Given the description of an element on the screen output the (x, y) to click on. 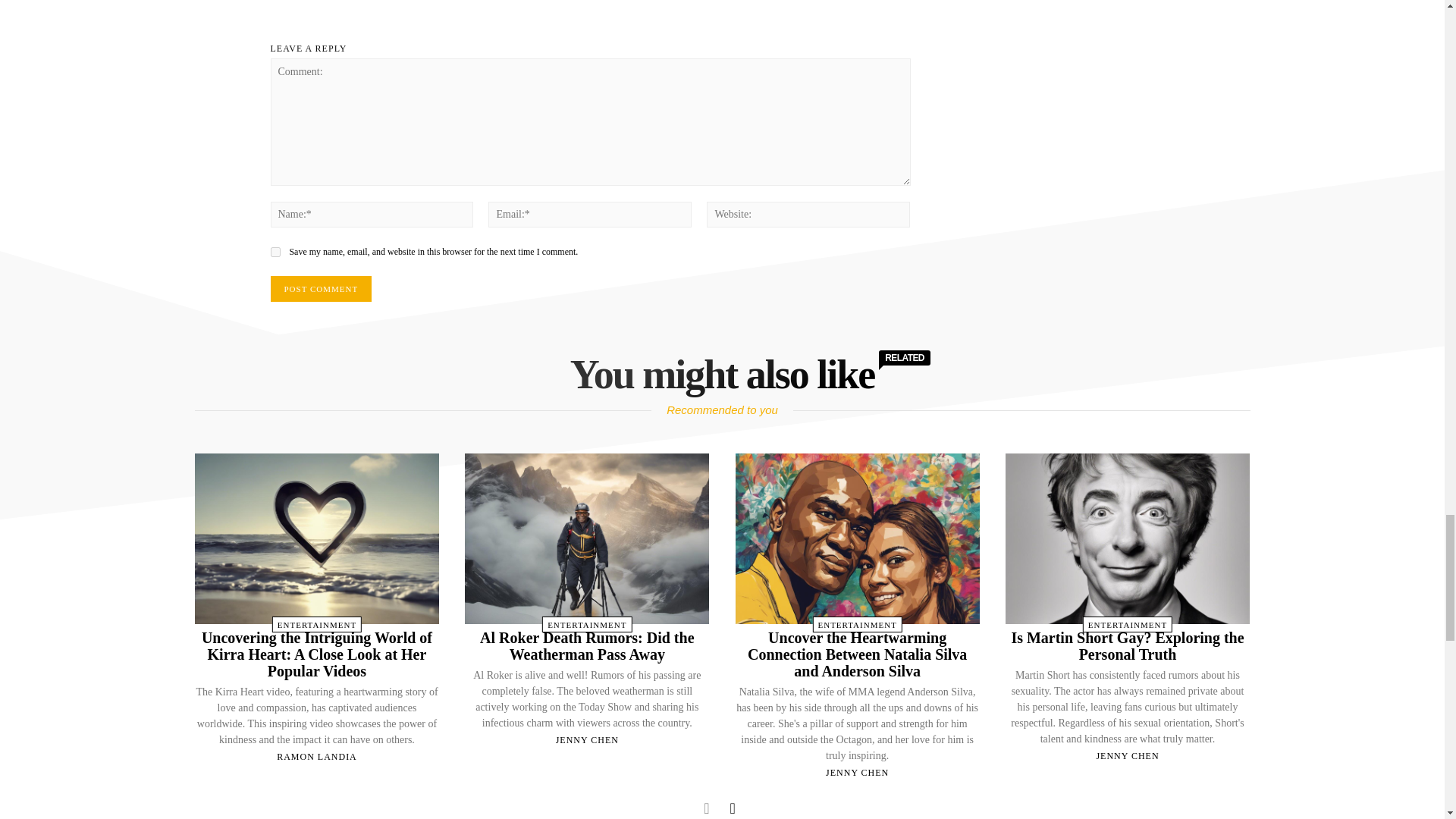
Post Comment (320, 289)
yes (274, 252)
